Given the description of an element on the screen output the (x, y) to click on. 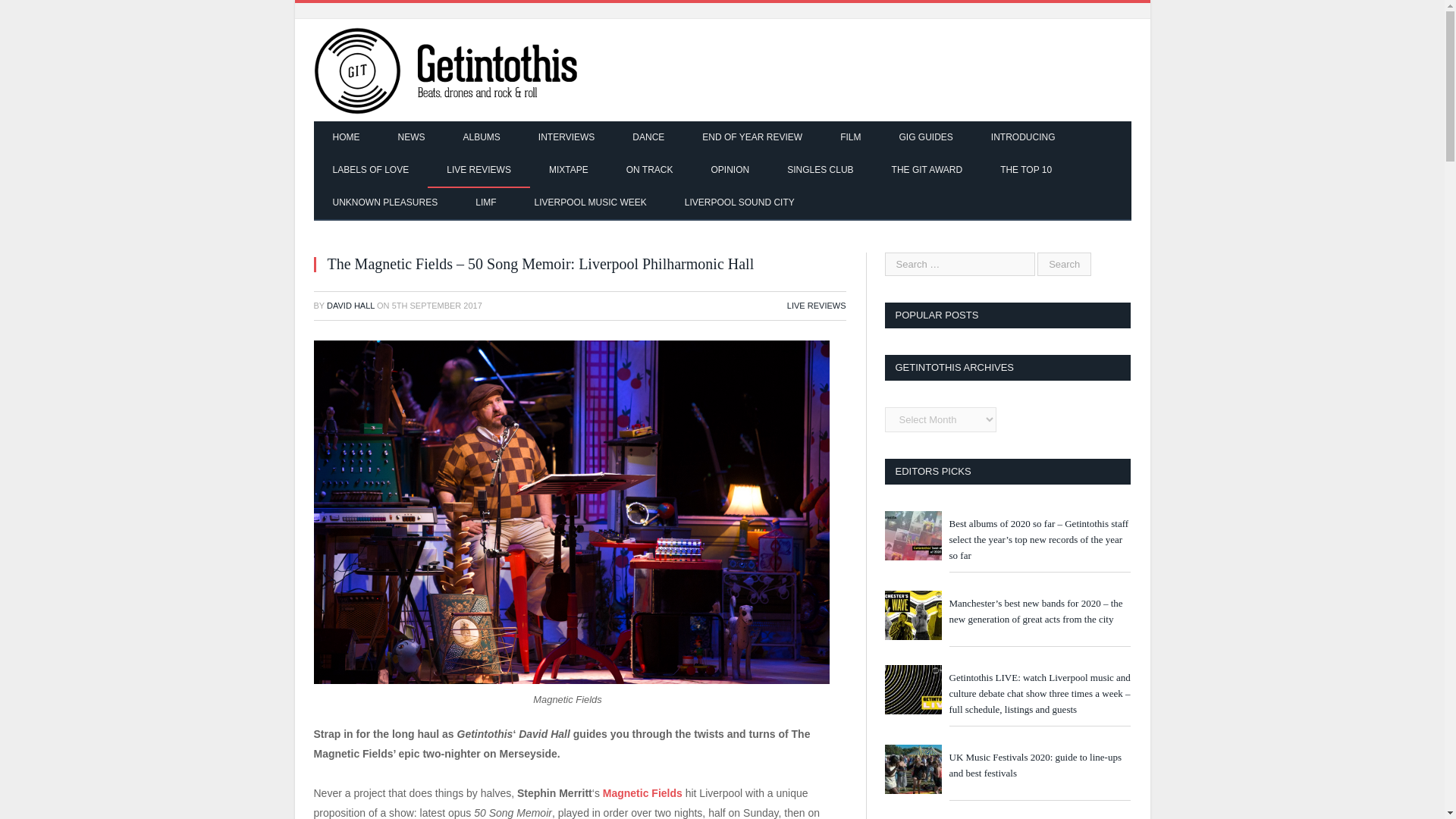
ON TRACK (650, 170)
INTERVIEWS (565, 138)
LIVERPOOL SOUND CITY (739, 203)
THE GIT AWARD (926, 170)
HOME (346, 138)
UNKNOWN PLEASURES (385, 203)
END OF YEAR REVIEW (751, 138)
ALBUMS (481, 138)
MIXTAPE (568, 170)
Getintothis (456, 69)
THE TOP 10 (1025, 170)
Search (1063, 264)
LIVE REVIEWS (816, 305)
OPINION (730, 170)
DAVID HALL (350, 305)
